Given the description of an element on the screen output the (x, y) to click on. 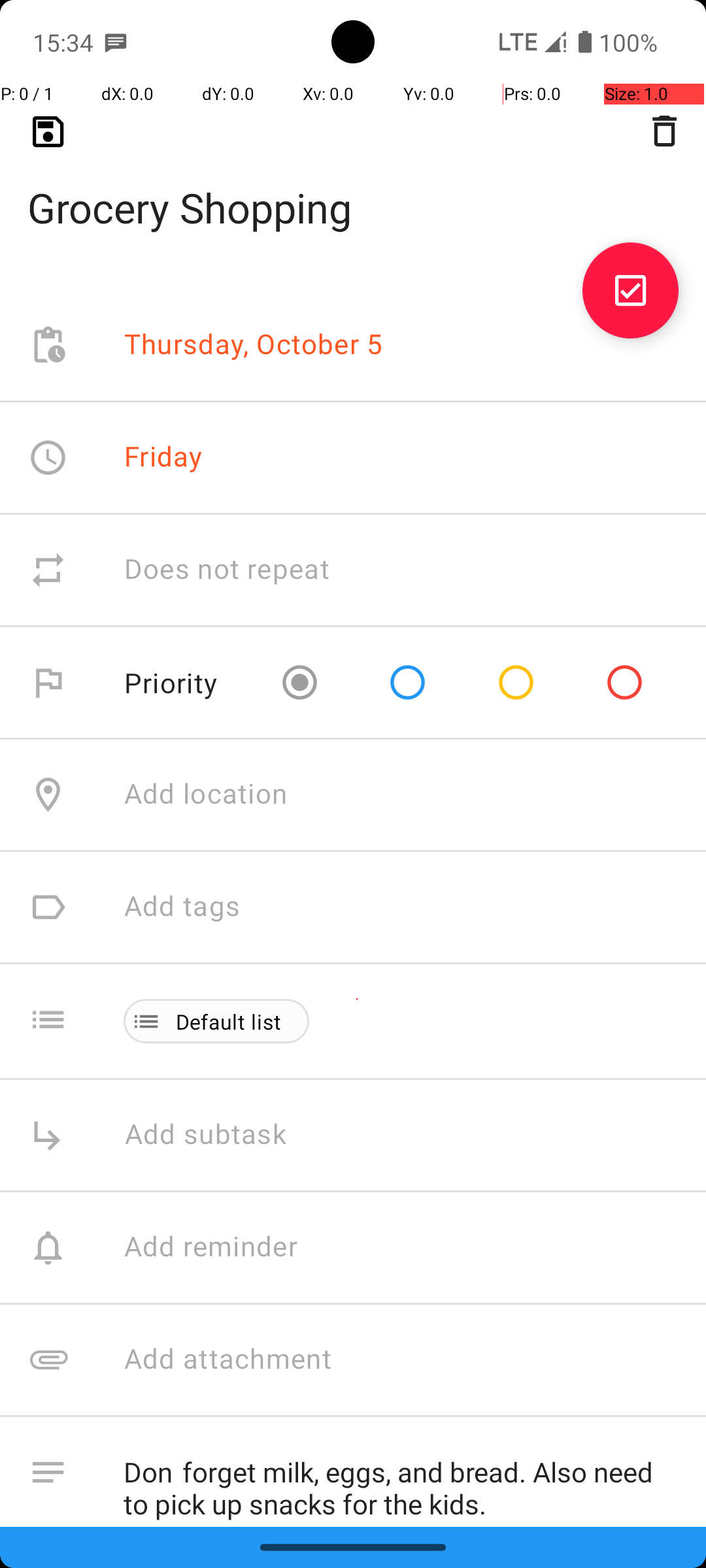
Thursday, October 5 Element type: android.widget.TextView (253, 344)
